Given the description of an element on the screen output the (x, y) to click on. 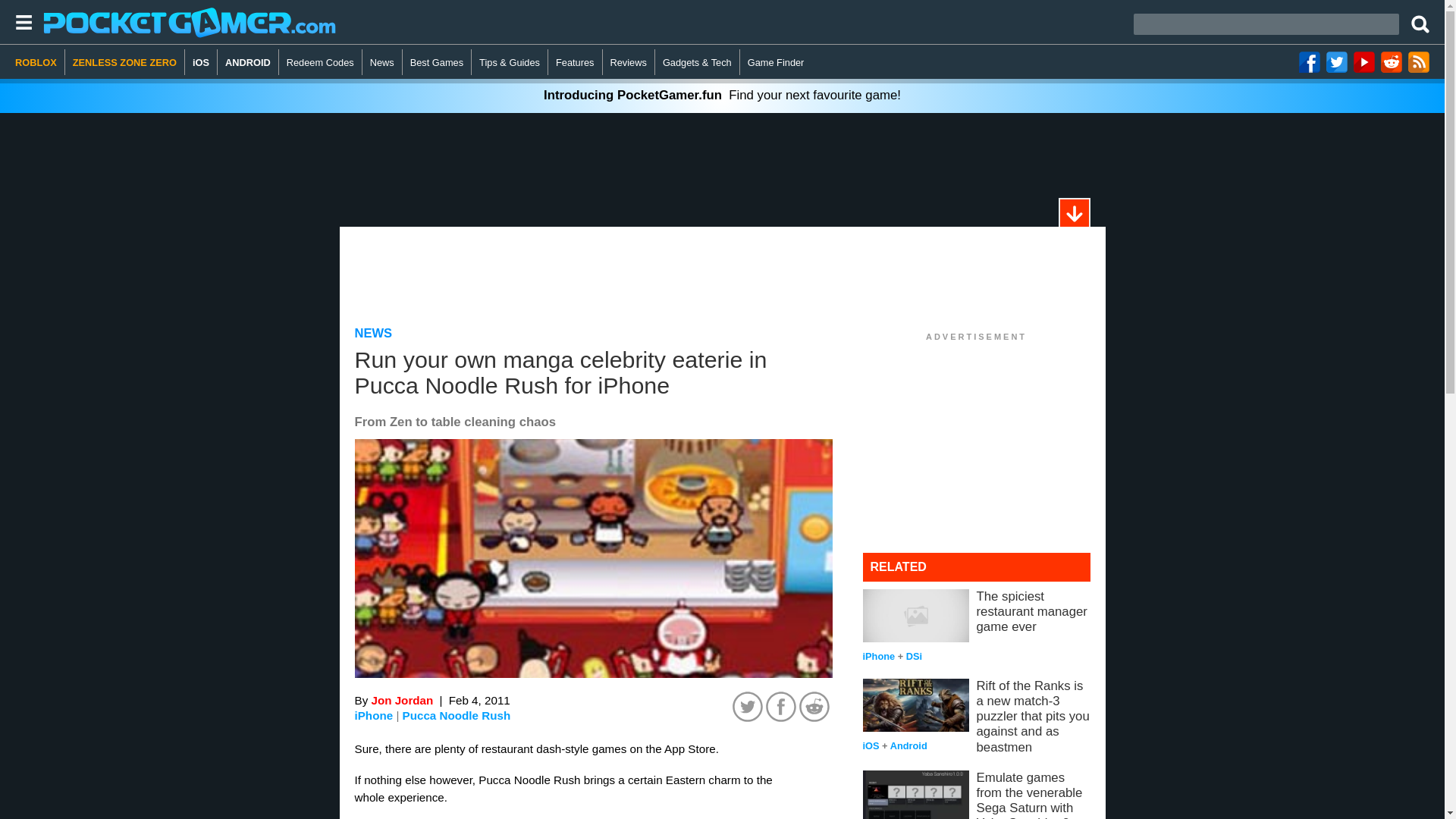
Jon Jordan (401, 699)
Reviews (628, 62)
iPhone (374, 715)
ROBLOX (39, 62)
Redeem Codes (320, 62)
ANDROID (247, 62)
iOS (200, 62)
Best Games (437, 62)
Game Finder (775, 62)
NEWS (374, 332)
